Given the description of an element on the screen output the (x, y) to click on. 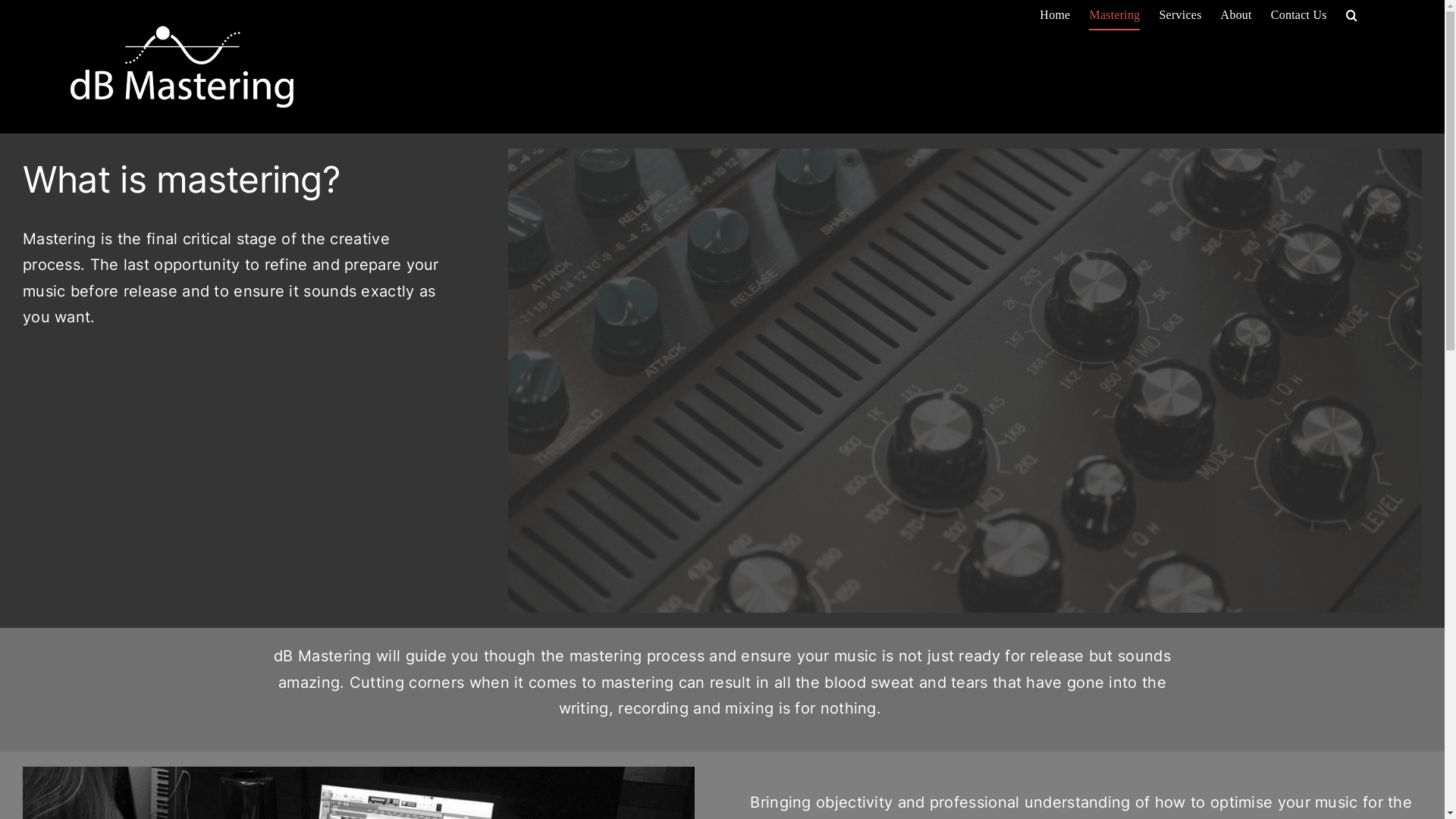
Home Element type: text (1054, 15)
Services Element type: text (1179, 15)
Search Element type: hover (1351, 15)
Contact Us Element type: text (1298, 15)
Mastering Element type: text (1113, 15)
About Element type: text (1236, 15)
